Given the description of an element on the screen output the (x, y) to click on. 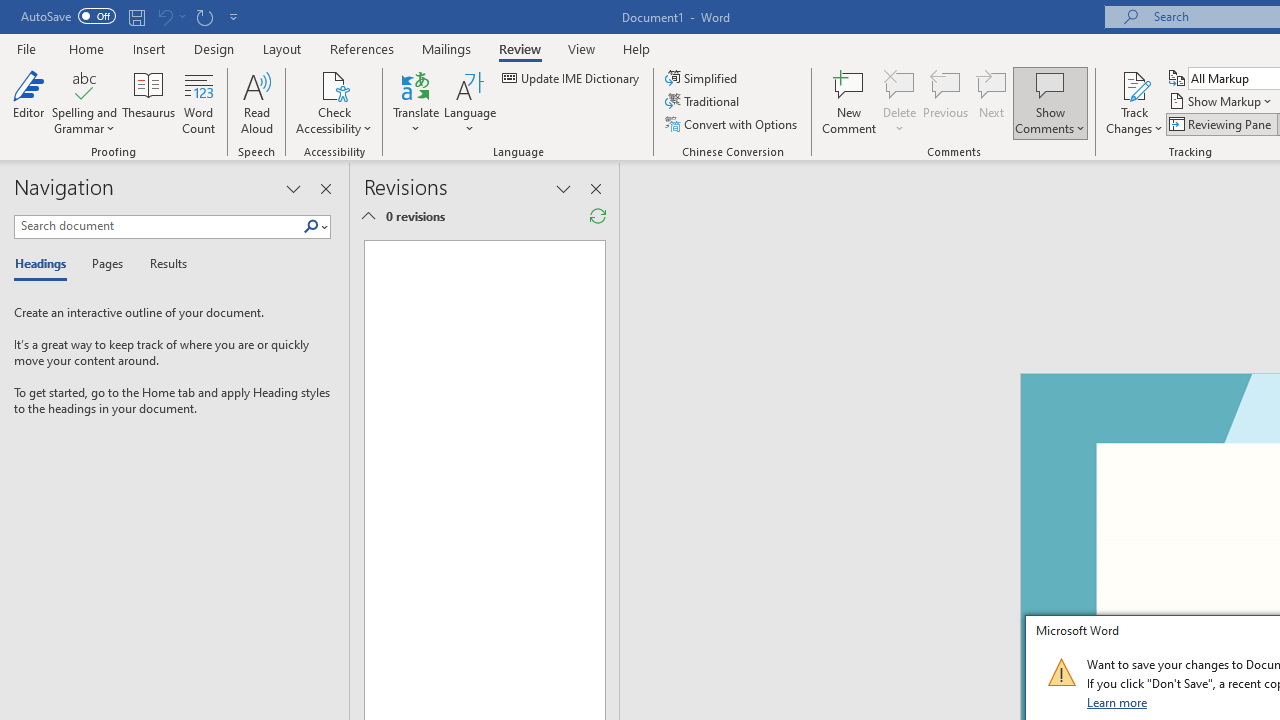
Results (161, 264)
Read Aloud (256, 102)
Editor (28, 102)
Show Detailed Summary (368, 215)
Delete (900, 102)
Pages (105, 264)
Word Count (198, 102)
Show Comments (1050, 102)
Track Changes (1134, 102)
